Given the description of an element on the screen output the (x, y) to click on. 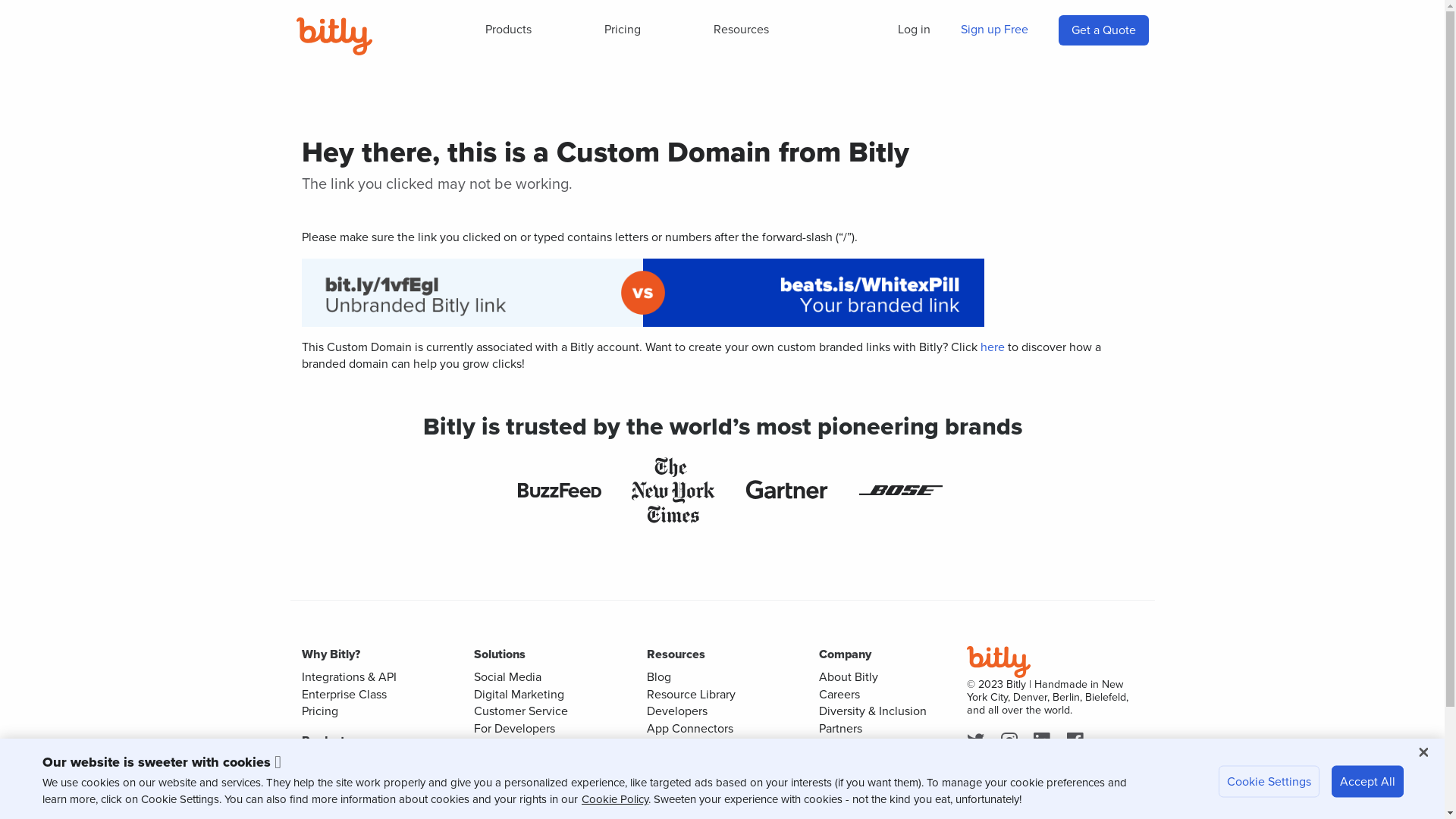
Developers Element type: text (676, 710)
Resources Element type: text (741, 29)
Trust Center Element type: text (678, 761)
Support Element type: text (666, 744)
App Connectors Element type: text (689, 728)
Pricing Element type: text (622, 29)
Enterprise Class Element type: text (343, 693)
Get a Quote Element type: text (1102, 29)
linkedin Element type: text (1044, 742)
Link-in-bio Element type: text (329, 797)
here Element type: text (991, 346)
Resource Library Element type: text (690, 693)
Careers Element type: text (839, 693)
Facebook Element type: text (1077, 742)
Log in Element type: text (913, 29)
For Developers Element type: text (514, 728)
Customer Service Element type: text (520, 710)
Press Element type: text (833, 744)
Link Management Element type: text (348, 762)
Digital Marketing Element type: text (518, 693)
twitter Element type: text (977, 742)
Products Element type: text (508, 29)
Sign up Free Element type: text (993, 29)
Browser Extension Element type: text (695, 778)
Cookie Policy Element type: text (614, 798)
Partners Element type: text (840, 728)
Accept All Element type: text (1367, 781)
QR Codes Element type: text (328, 779)
Contact Element type: text (839, 761)
Diversity & Inclusion Element type: text (872, 710)
Social Media Element type: text (507, 676)
Mobile App Element type: text (676, 795)
About Bitly Element type: text (848, 676)
Cookie Settings Element type: text (1268, 781)
Mobile Links Element type: text (506, 797)
Blog Element type: text (658, 676)
Branded Links Element type: text (511, 779)
Integrations & API Element type: text (348, 676)
Reviews Element type: text (841, 778)
Pricing Element type: text (319, 710)
